Given the description of an element on the screen output the (x, y) to click on. 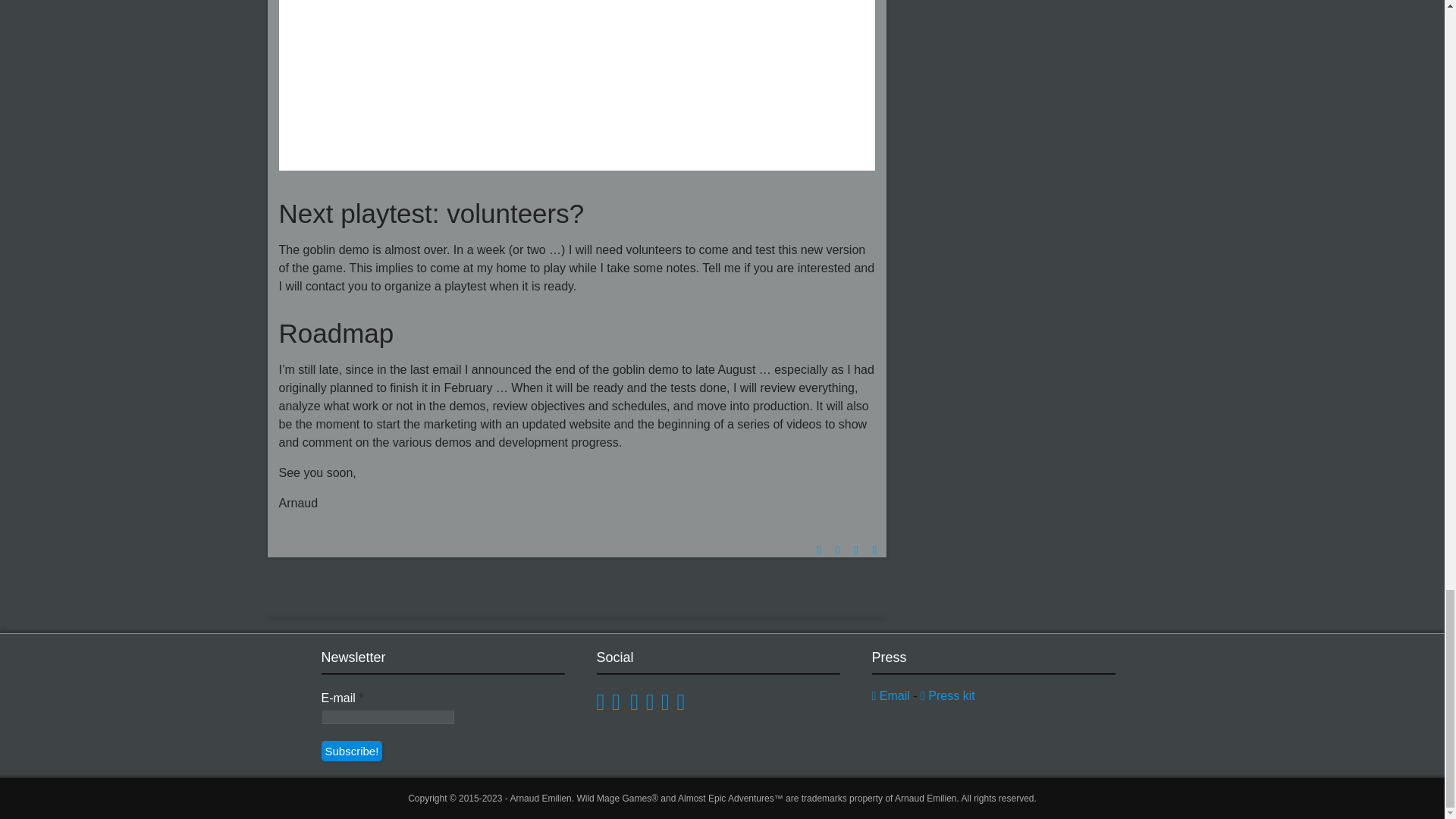
E-mail (387, 716)
Share on Facebook (837, 549)
Share on Twitter (818, 549)
Share on LinkedIn (855, 549)
Subscribe! (351, 751)
